Given the description of an element on the screen output the (x, y) to click on. 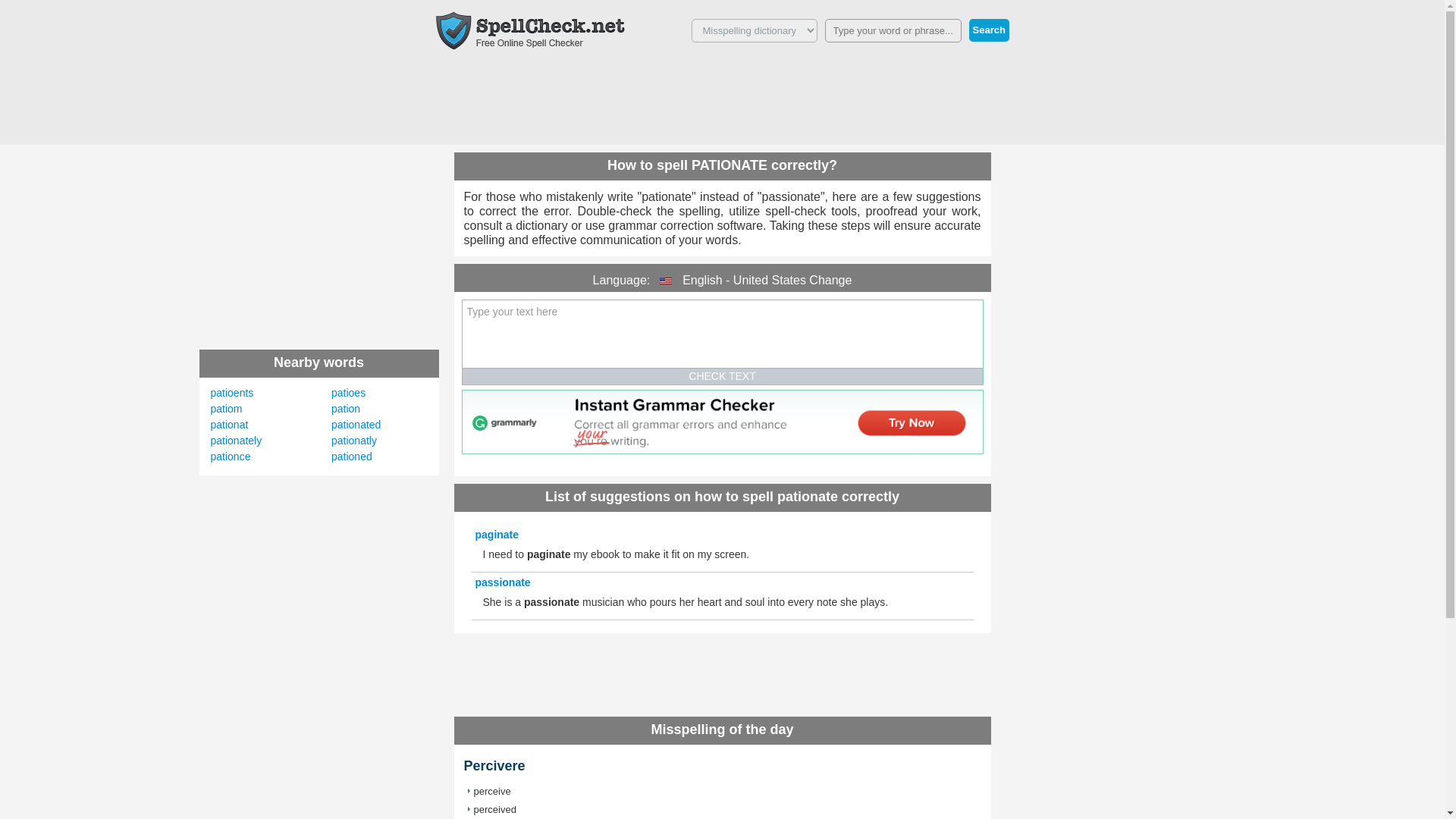
pationat (229, 424)
patiom (227, 408)
patioents (232, 392)
patioes (348, 392)
Spellcheck.net (529, 30)
pationatly (354, 440)
patiom (227, 408)
pationed (351, 456)
patioes (348, 392)
pation (345, 408)
